Given the description of an element on the screen output the (x, y) to click on. 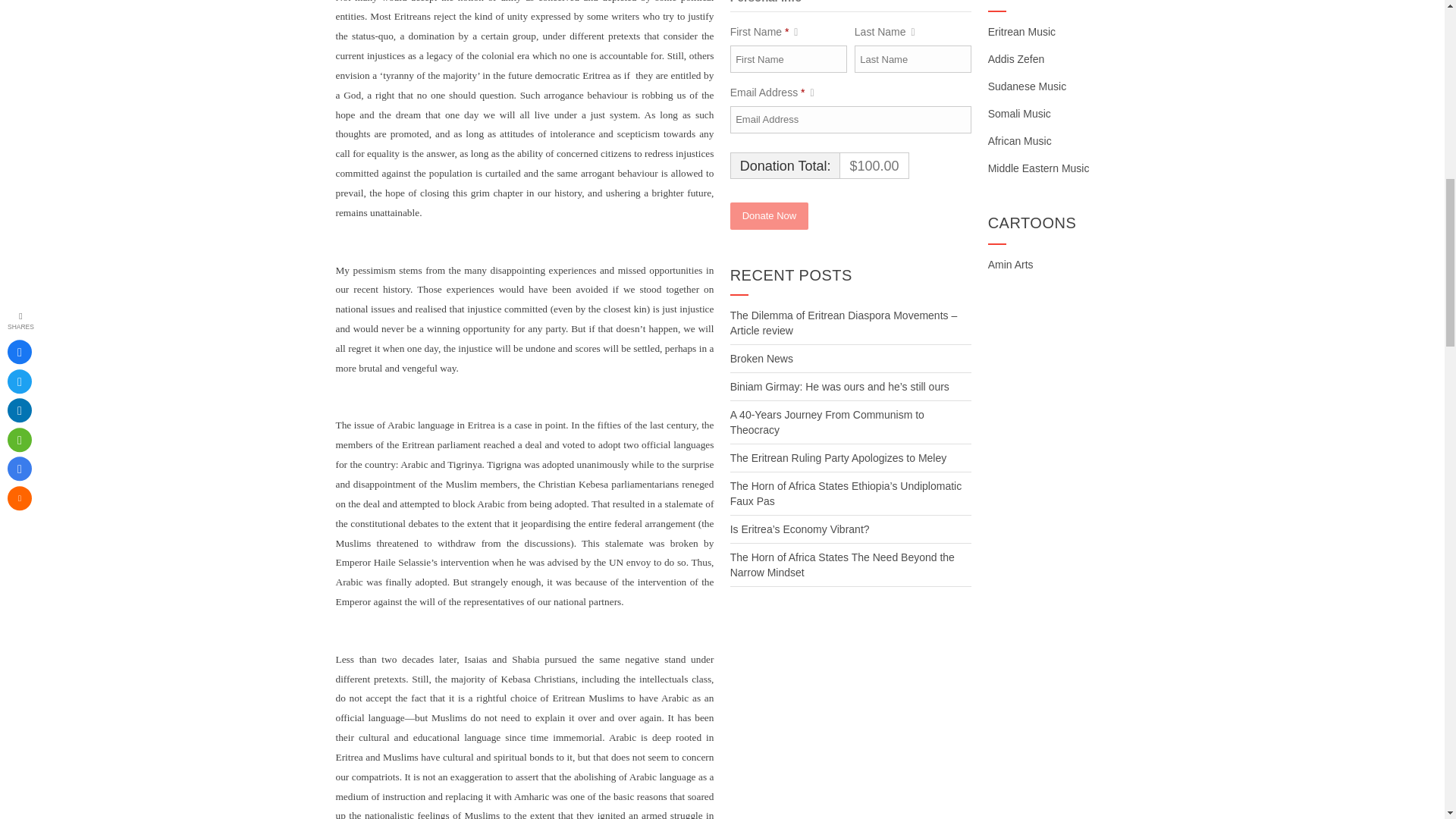
Donate Now (769, 216)
